Given the description of an element on the screen output the (x, y) to click on. 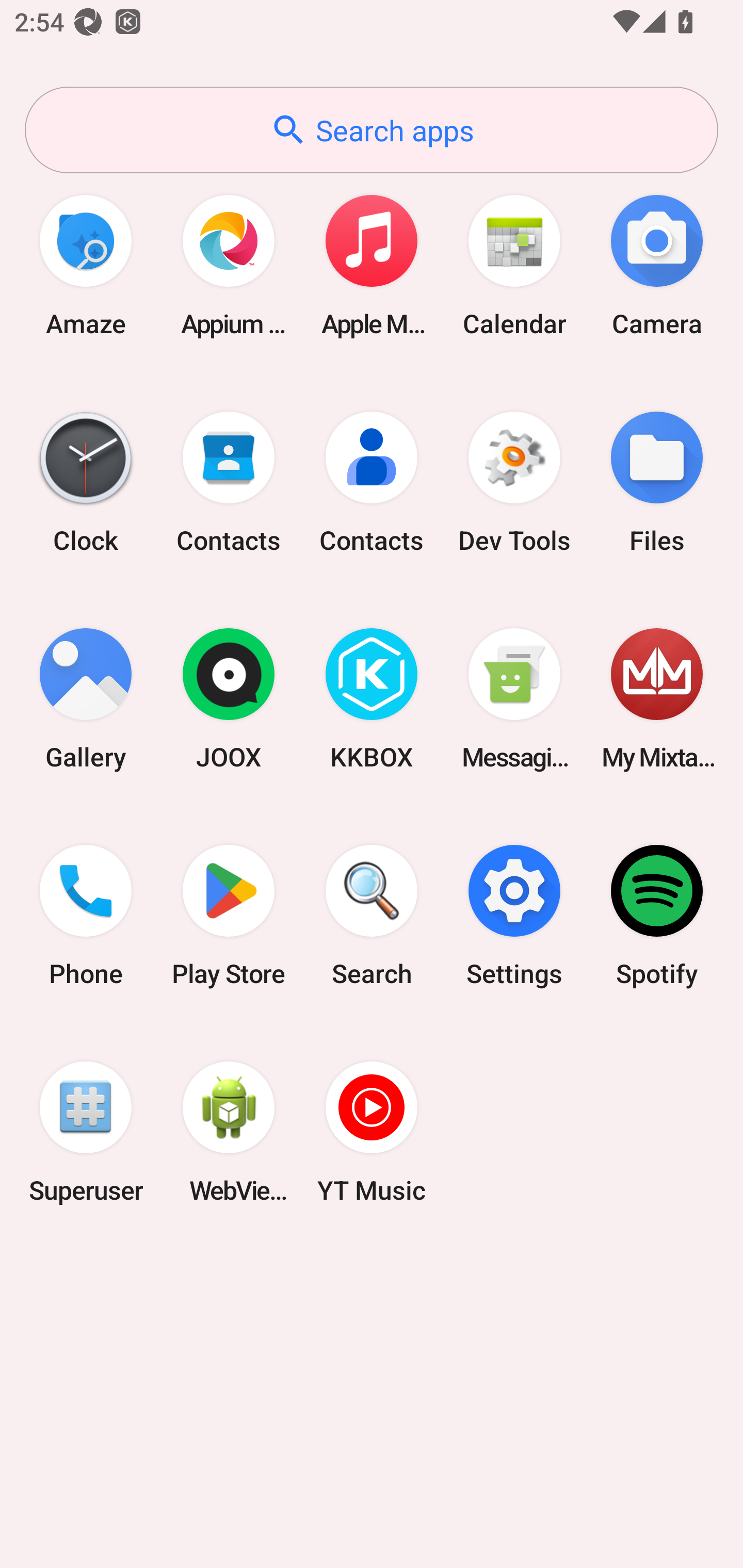
  Search apps (371, 130)
Amaze (85, 264)
Appium Settings (228, 264)
Apple Music (371, 264)
Calendar (514, 264)
Camera (656, 264)
Clock (85, 482)
Contacts (228, 482)
Contacts (371, 482)
Dev Tools (514, 482)
Files (656, 482)
Gallery (85, 699)
JOOX (228, 699)
KKBOX (371, 699)
Messaging (514, 699)
My Mixtapez (656, 699)
Phone (85, 915)
Play Store (228, 915)
Search (371, 915)
Settings (514, 915)
Spotify (656, 915)
Superuser (85, 1131)
WebView Browser Tester (228, 1131)
YT Music (371, 1131)
